Given the description of an element on the screen output the (x, y) to click on. 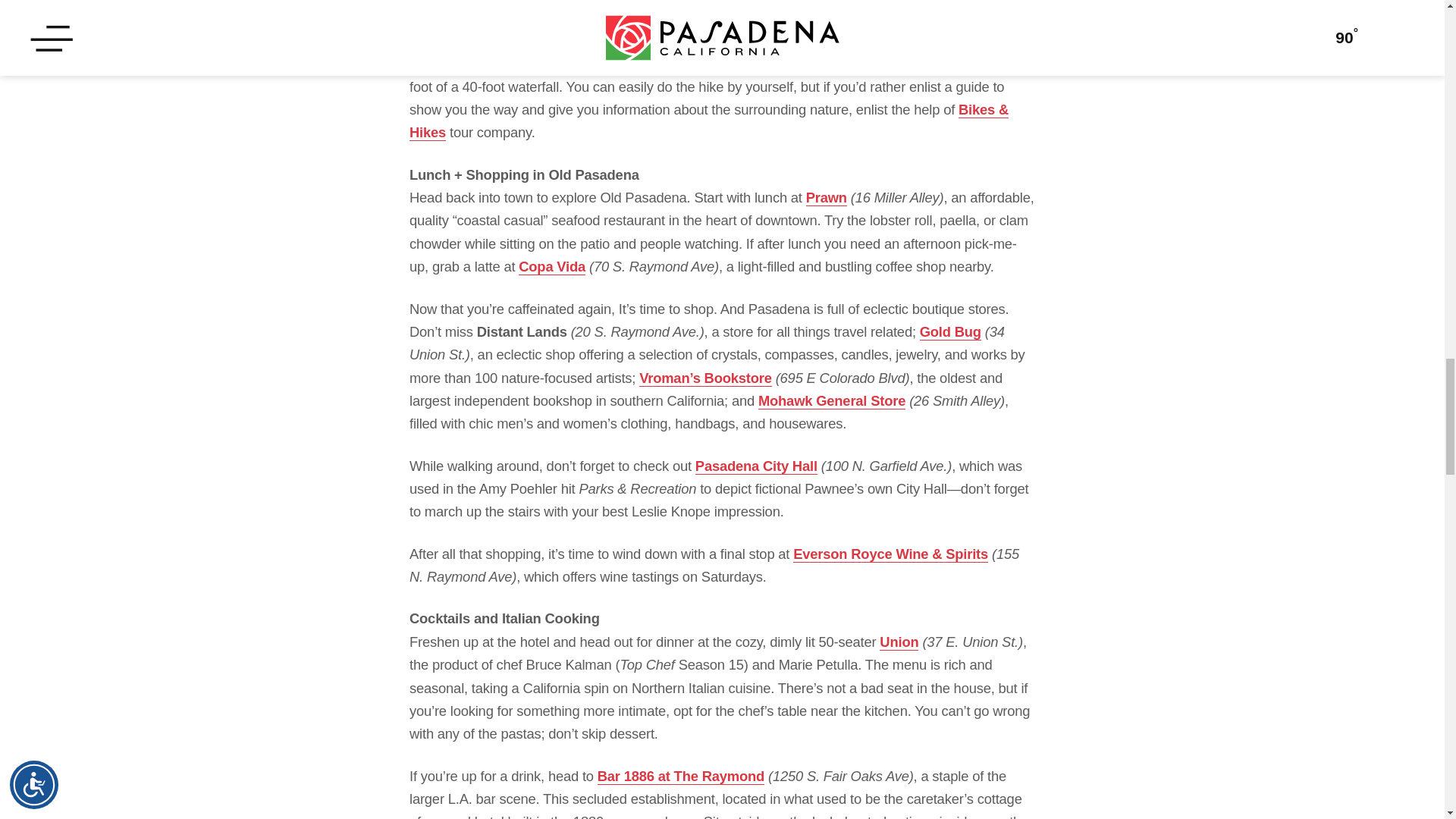
Union (898, 641)
Bar 1886 at The Raymond (680, 776)
Mohawk General Store (831, 401)
Prawn (826, 197)
Copa Vida (551, 266)
Eaton Canyon Trail (716, 12)
Pasadena City Hall (755, 466)
Gold Bug (950, 331)
